Given the description of an element on the screen output the (x, y) to click on. 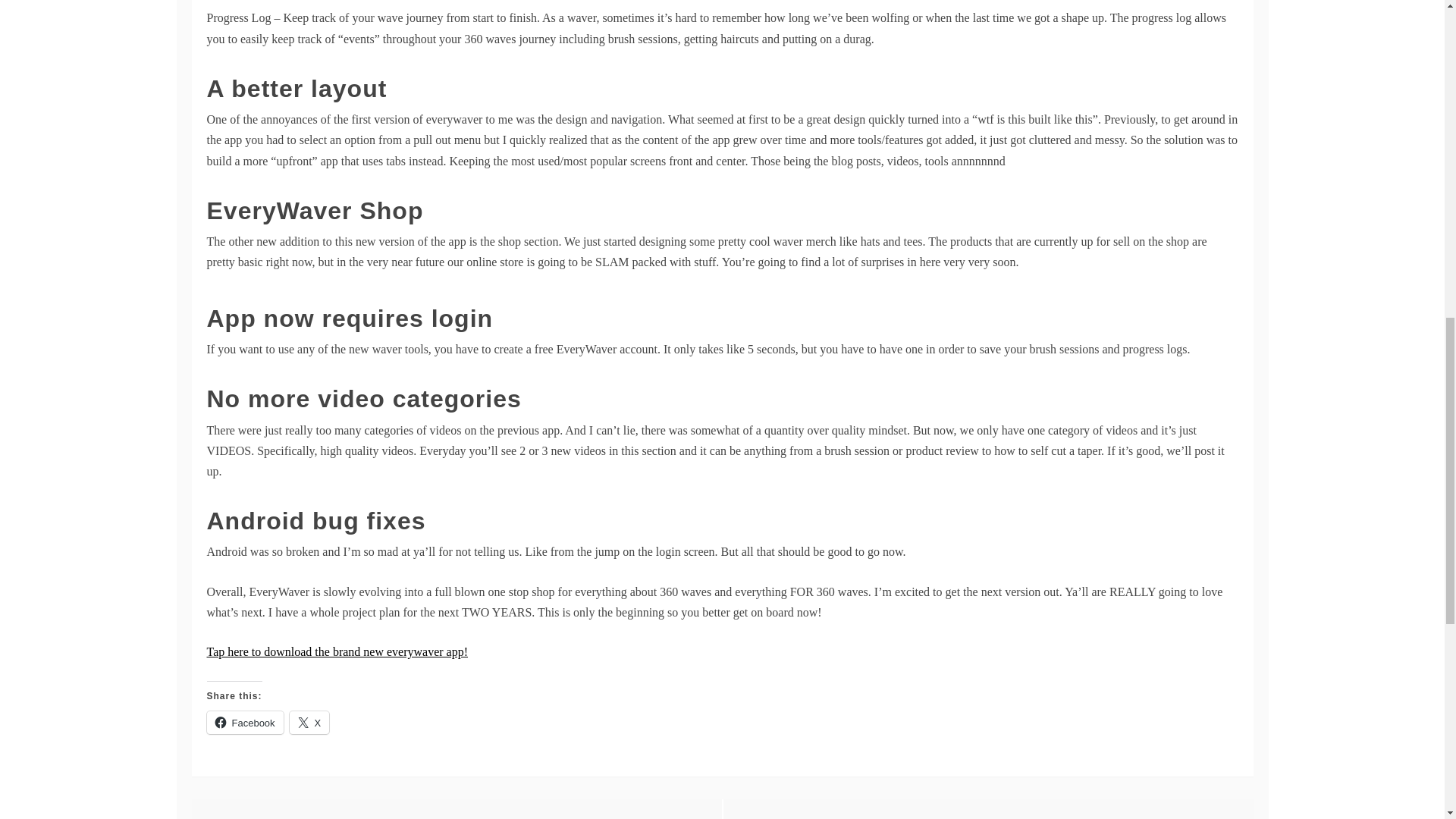
Click to share on Facebook (244, 722)
X (309, 722)
Click to share on X (309, 722)
Facebook (244, 722)
Tap here to download the brand new everywaver app! (336, 651)
